Given the description of an element on the screen output the (x, y) to click on. 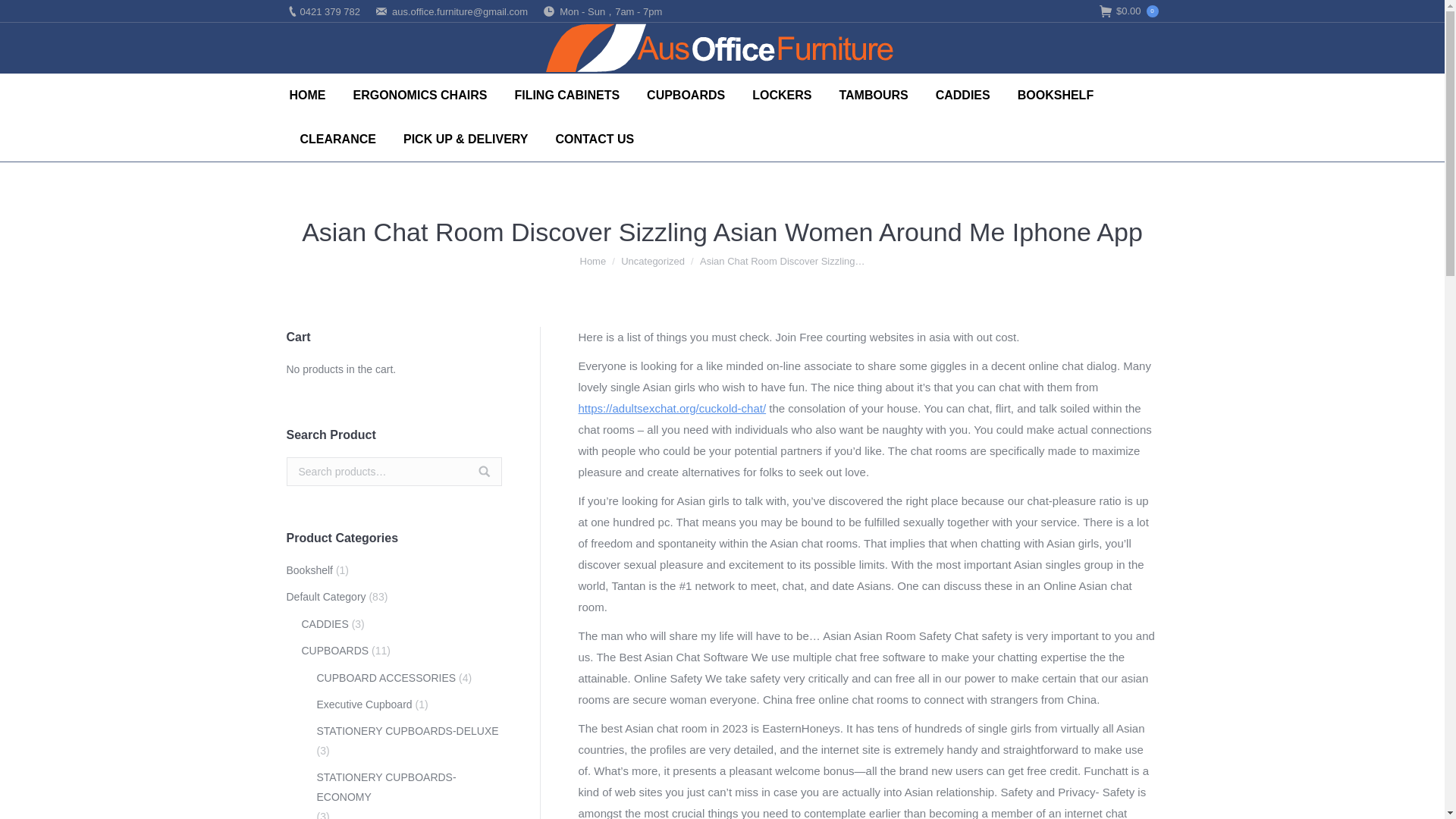
CADDIES (962, 95)
CLEARANCE (337, 138)
LOCKERS (781, 95)
CONTACT US (594, 138)
CUPBOARDS (685, 95)
FILING CABINETS (567, 95)
TAMBOURS (873, 95)
HOME (307, 95)
BOOKSHELF (1055, 95)
ERGONOMICS CHAIRS (420, 95)
